Given the description of an element on the screen output the (x, y) to click on. 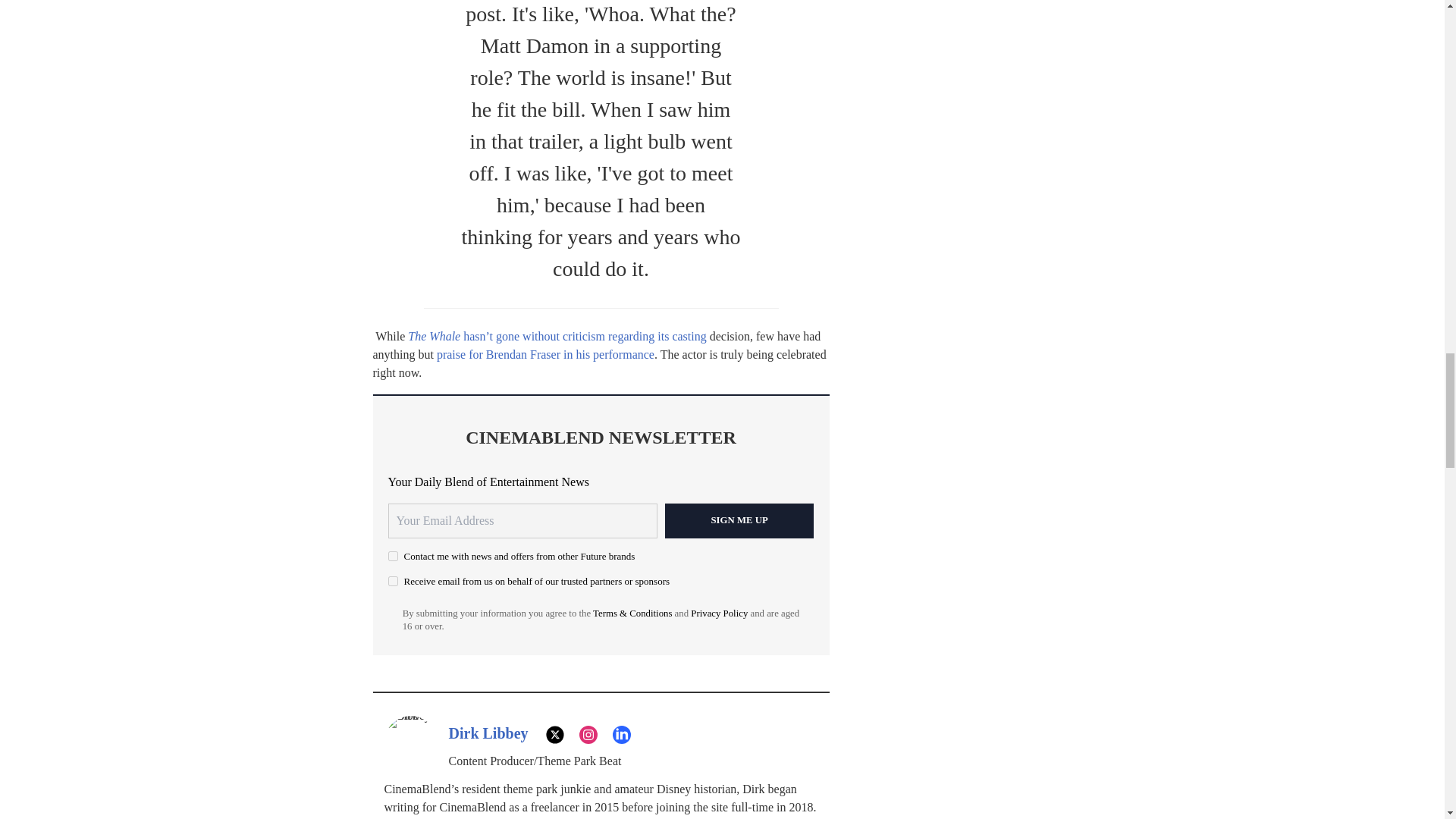
on (392, 556)
Sign me up (739, 520)
on (392, 581)
